Given the description of an element on the screen output the (x, y) to click on. 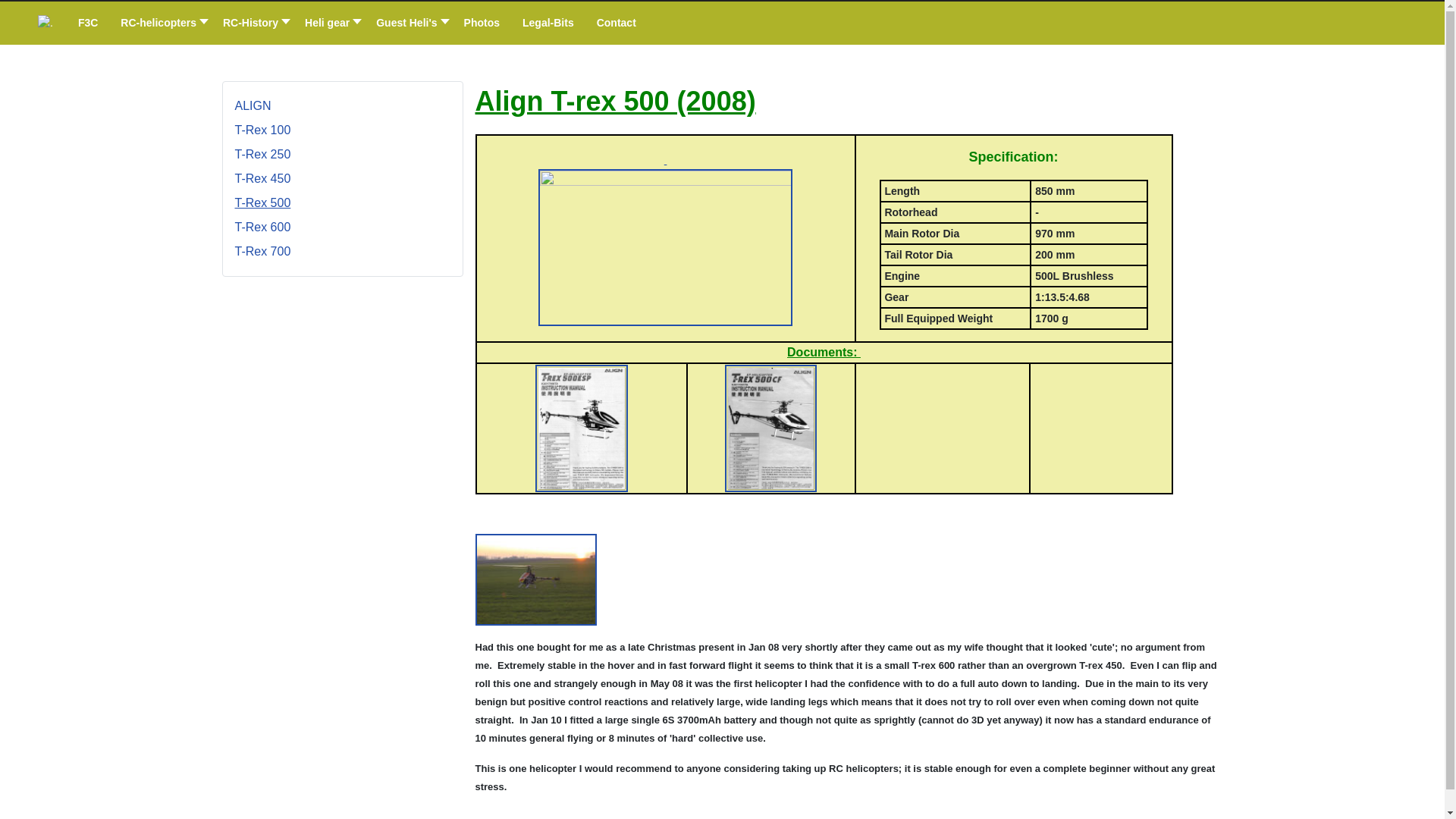
RC-helicopters (160, 23)
F3C (87, 23)
